Given the description of an element on the screen output the (x, y) to click on. 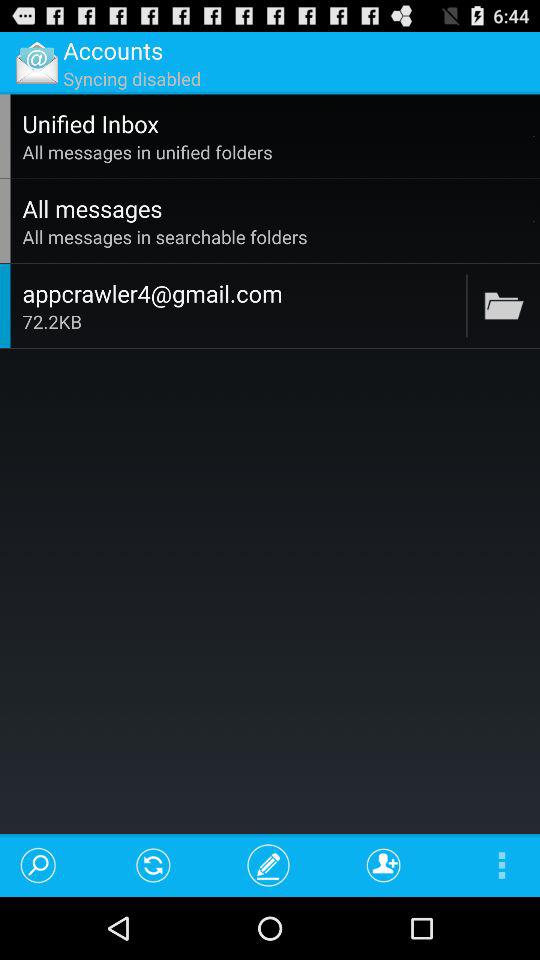
press item at the bottom (268, 864)
